Given the description of an element on the screen output the (x, y) to click on. 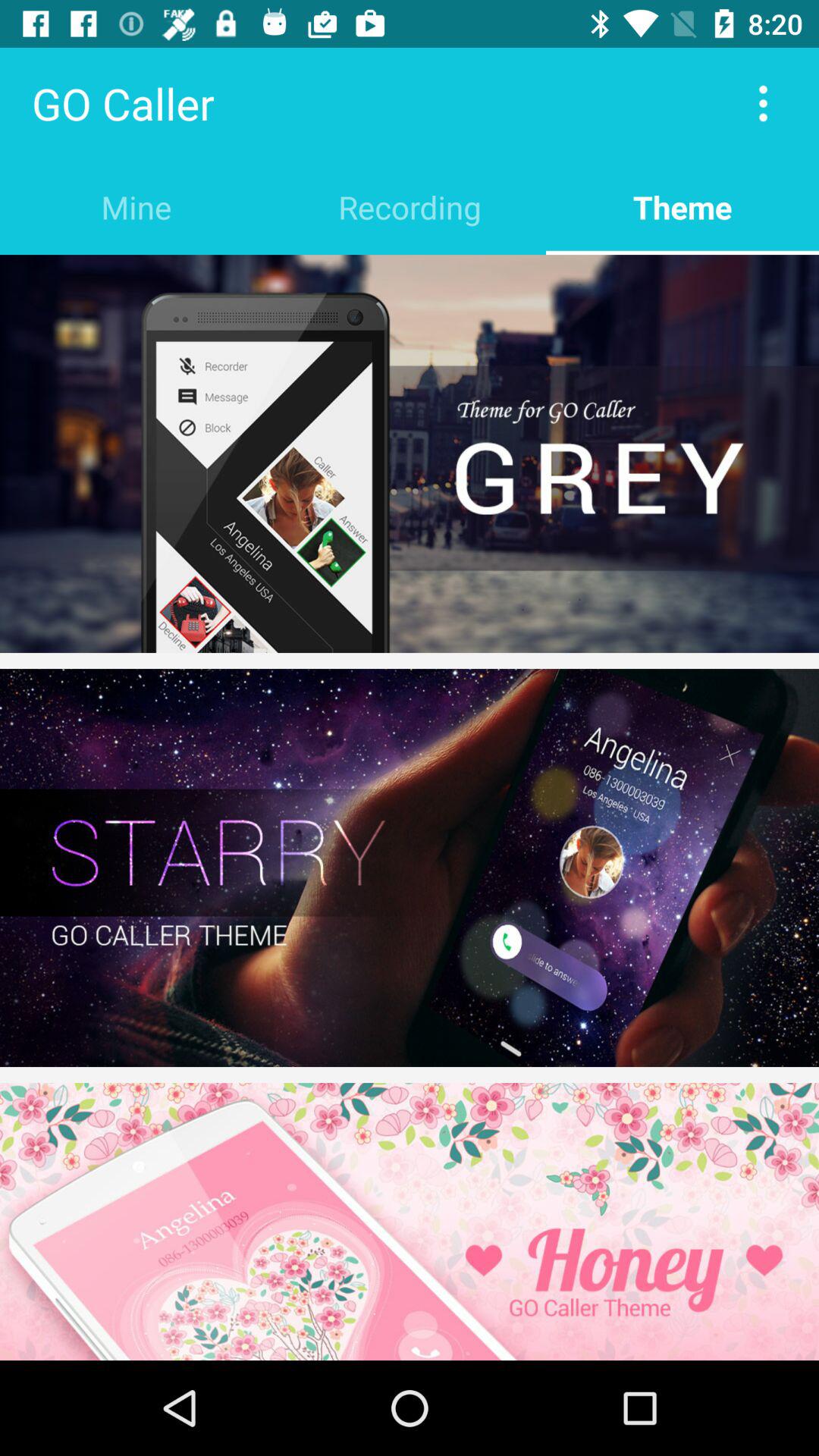
swipe until the theme (682, 206)
